Given the description of an element on the screen output the (x, y) to click on. 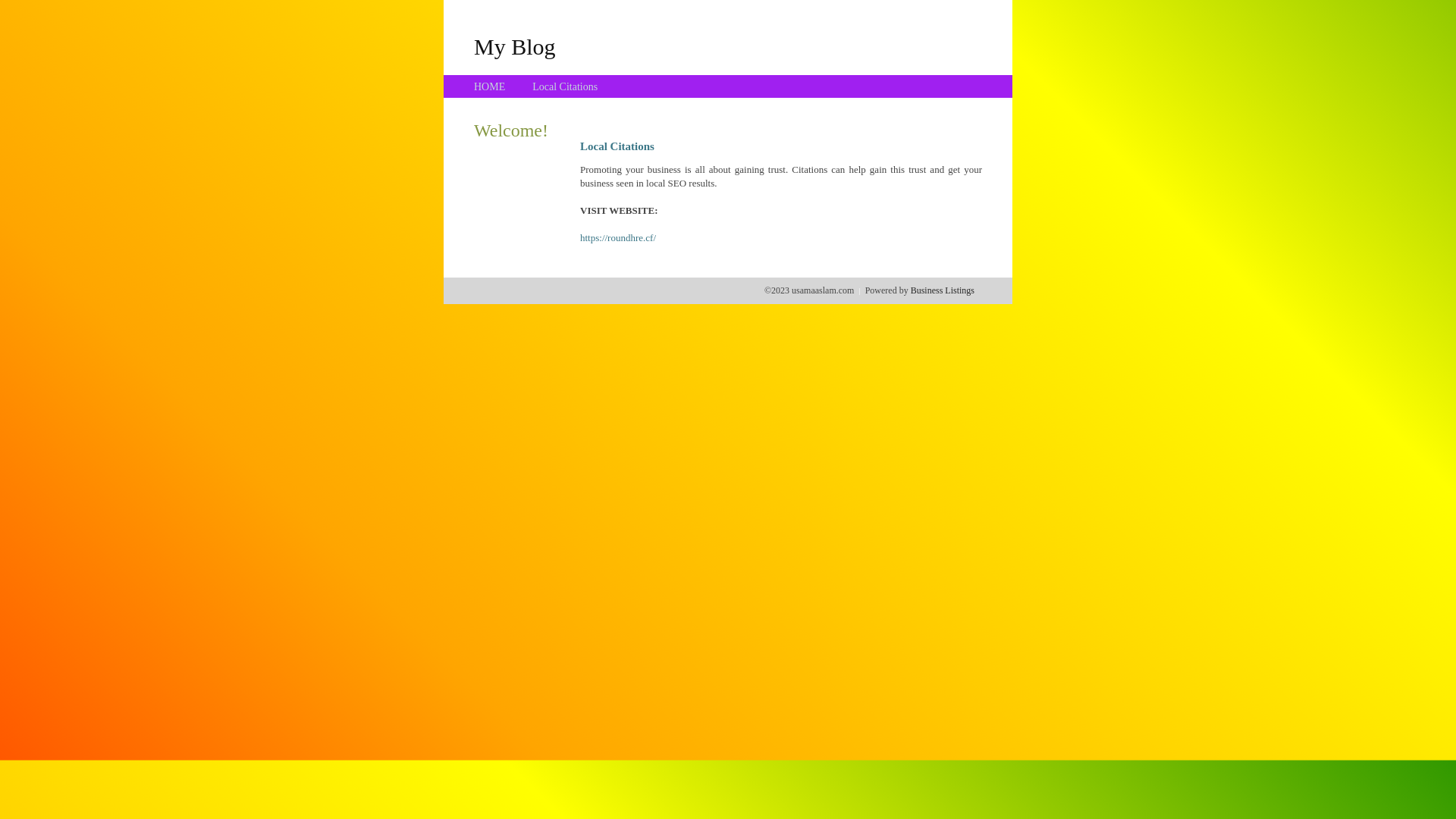
Business Listings Element type: text (942, 290)
Local Citations Element type: text (564, 86)
My Blog Element type: text (514, 46)
HOME Element type: text (489, 86)
https://roundhre.cf/ Element type: text (617, 237)
